Given the description of an element on the screen output the (x, y) to click on. 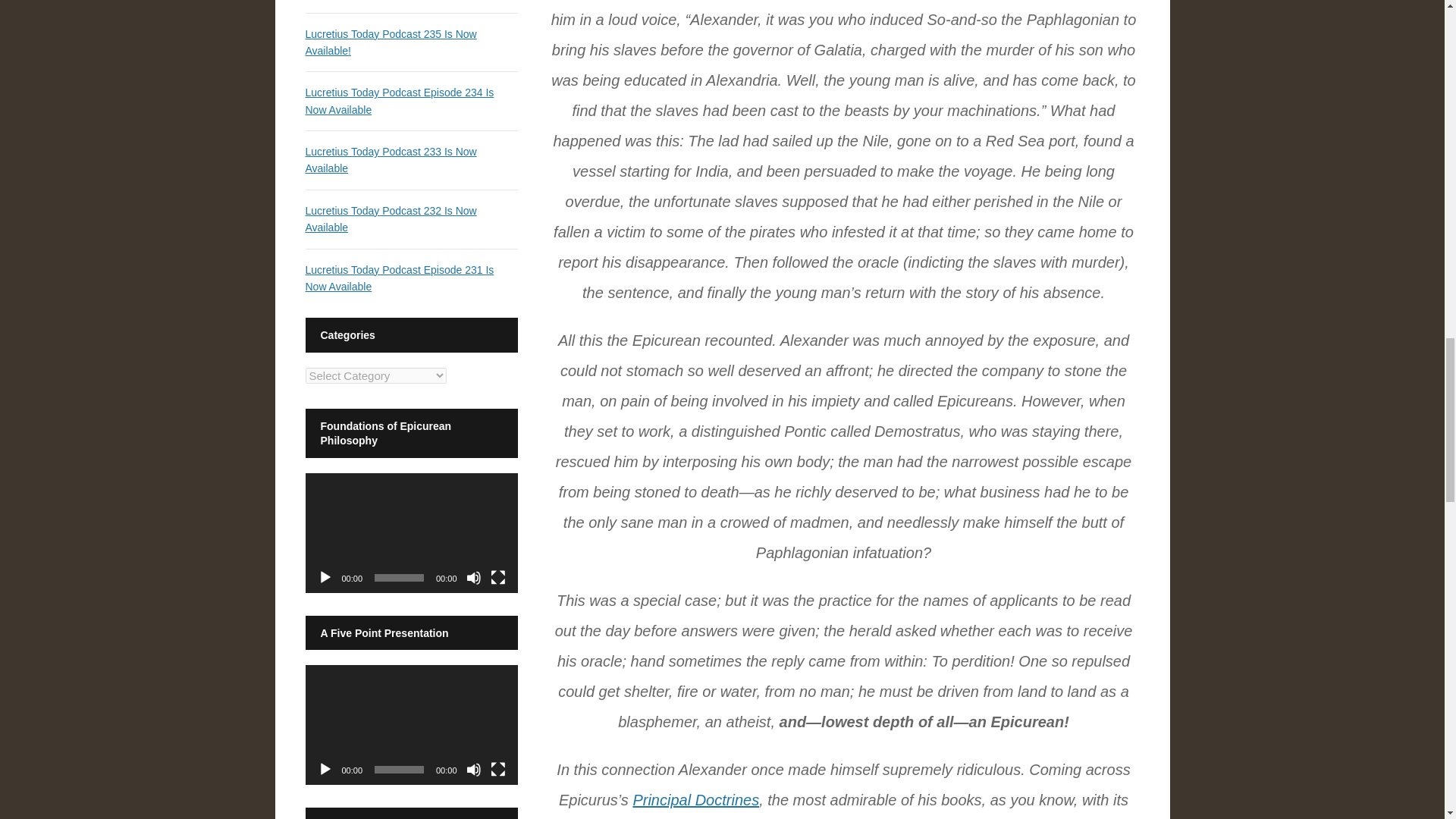
Mute (472, 577)
Fullscreen (497, 577)
Play (324, 577)
Fullscreen (497, 769)
Play (324, 769)
Mute (472, 769)
